Given the description of an element on the screen output the (x, y) to click on. 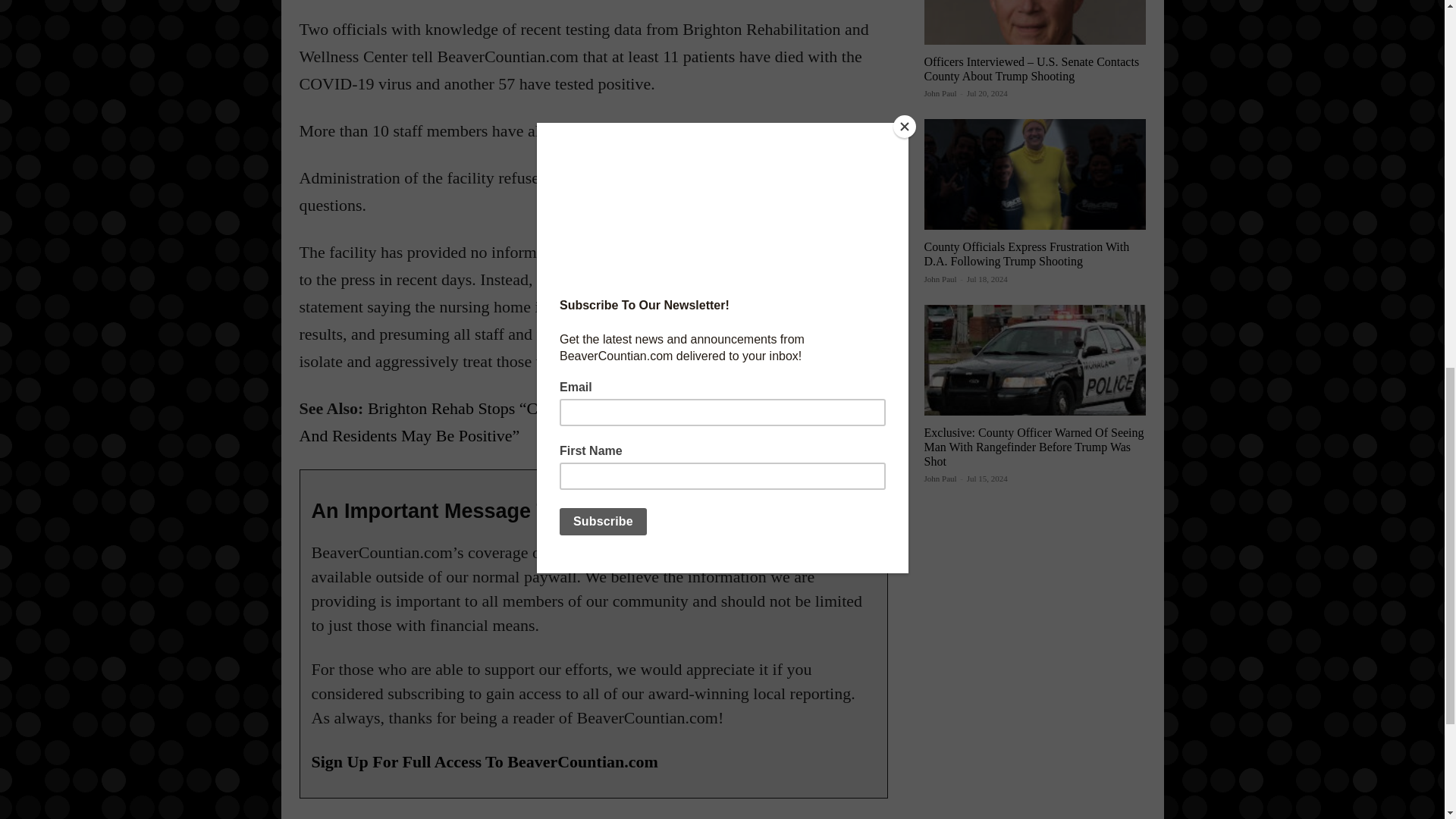
John Paul (939, 478)
Sign Up For Full Access To BeaverCountian.com (484, 761)
John Paul (939, 278)
John Paul (939, 92)
